Given the description of an element on the screen output the (x, y) to click on. 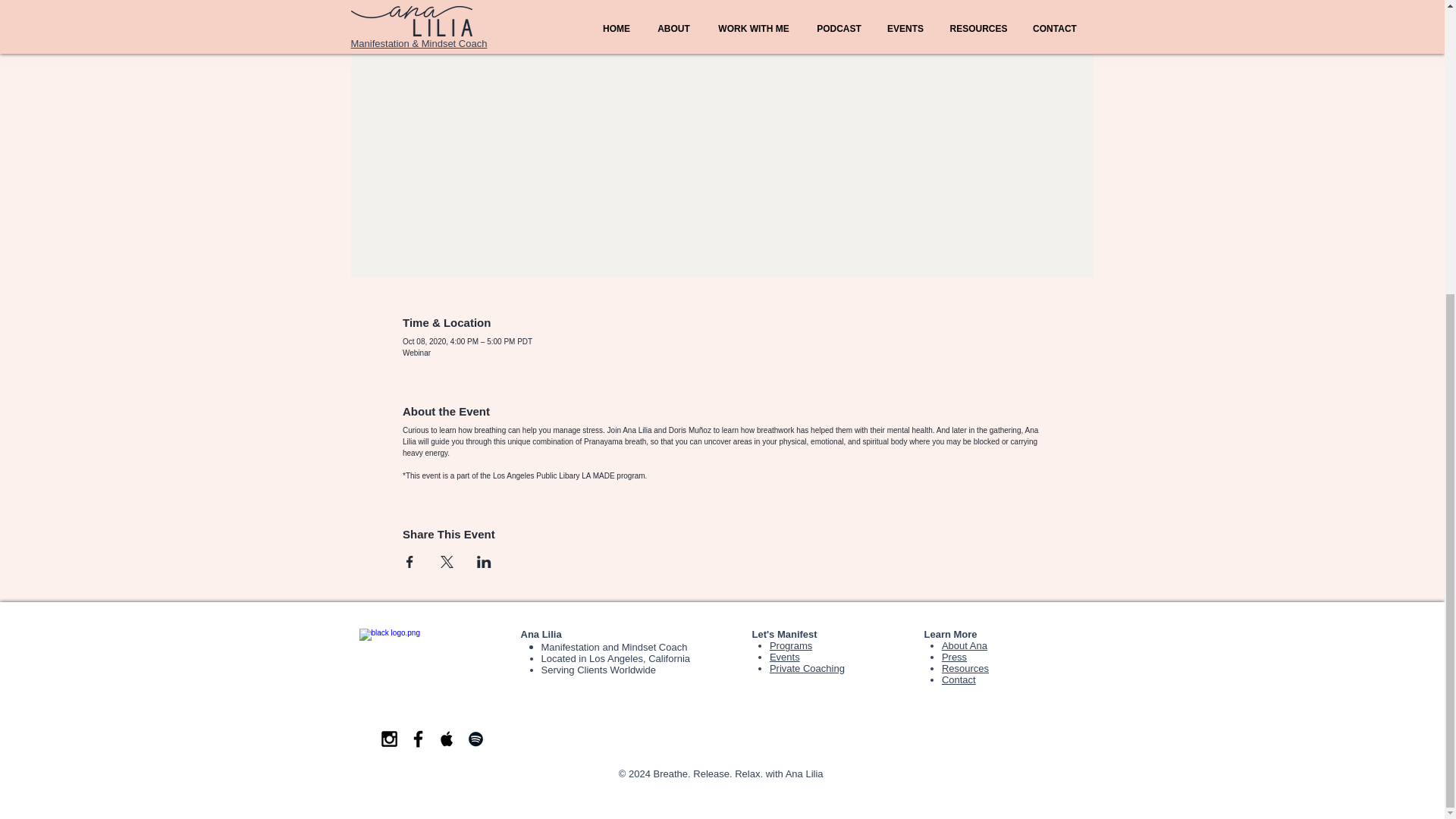
Press (954, 656)
Events (784, 656)
Private Coaching (807, 668)
Programs (791, 645)
About Ana (964, 645)
Contact (958, 679)
Resources (965, 668)
